Given the description of an element on the screen output the (x, y) to click on. 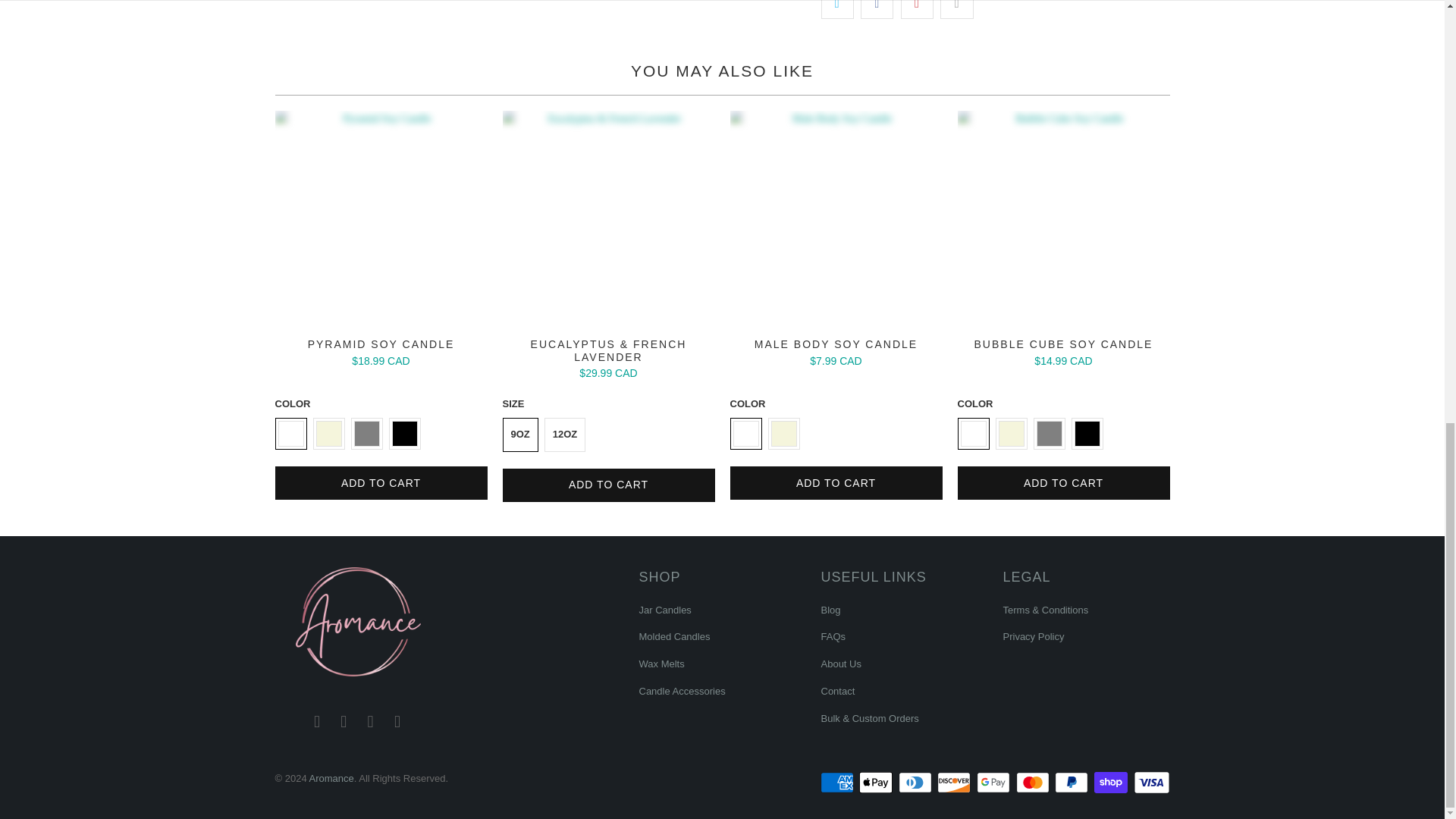
American Express (839, 782)
Mastercard (1034, 782)
Discover (955, 782)
Shop Pay (1112, 782)
PayPal (1072, 782)
Share this on Facebook (876, 9)
Google Pay (994, 782)
Diners Club (916, 782)
Visa (1150, 782)
Apple Pay (877, 782)
Share this on Pinterest (917, 9)
Share this on Twitter (837, 9)
Email this to a friend (956, 9)
